Given the description of an element on the screen output the (x, y) to click on. 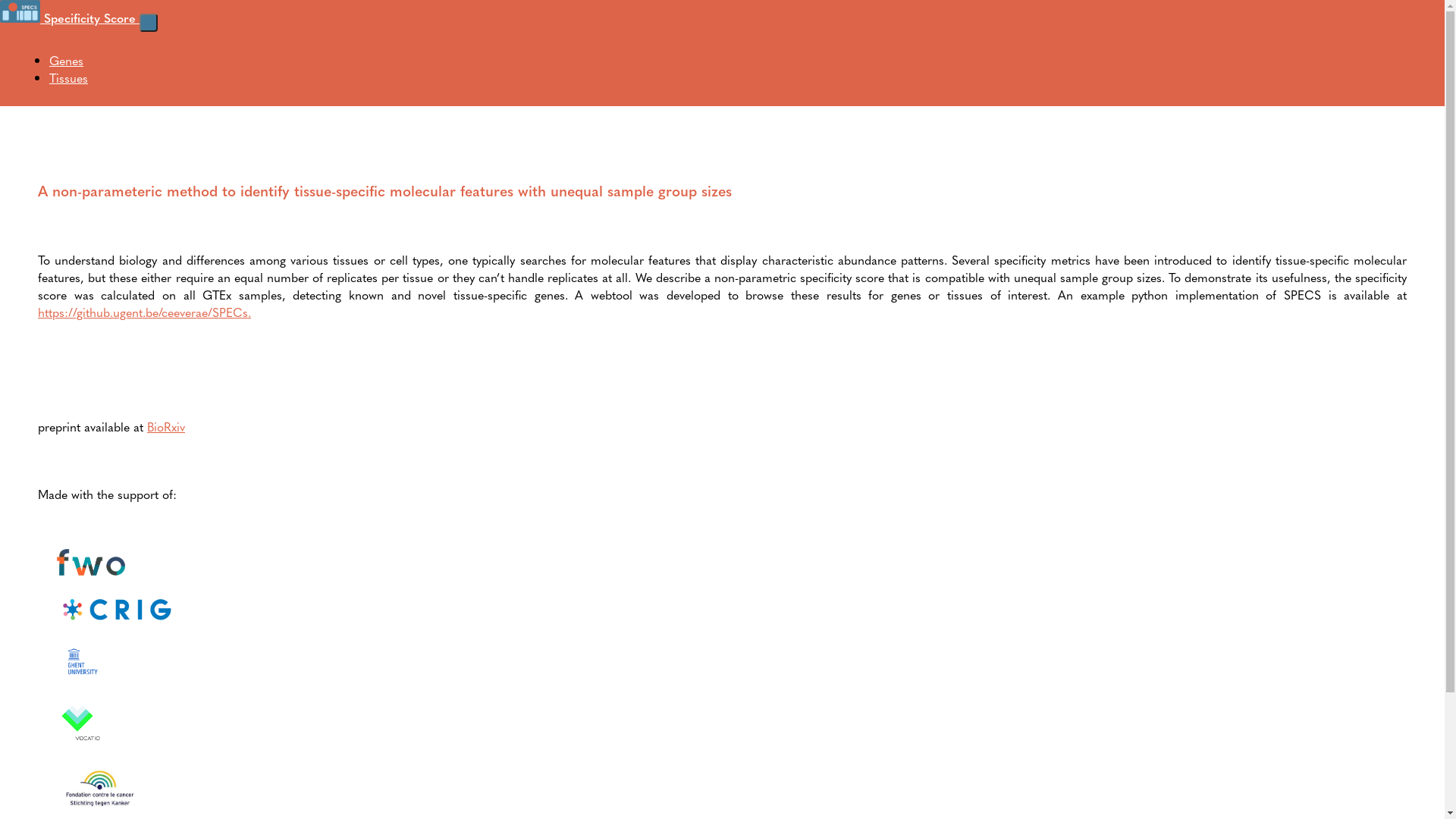
Genes Element type: text (66, 60)
BioRxiv Element type: text (166, 426)
 Specificity Score Element type: text (69, 17)
https://github.ugent.be/ceeverae/SPECs. Element type: text (144, 311)
Tissues Element type: text (68, 77)
